Given the description of an element on the screen output the (x, y) to click on. 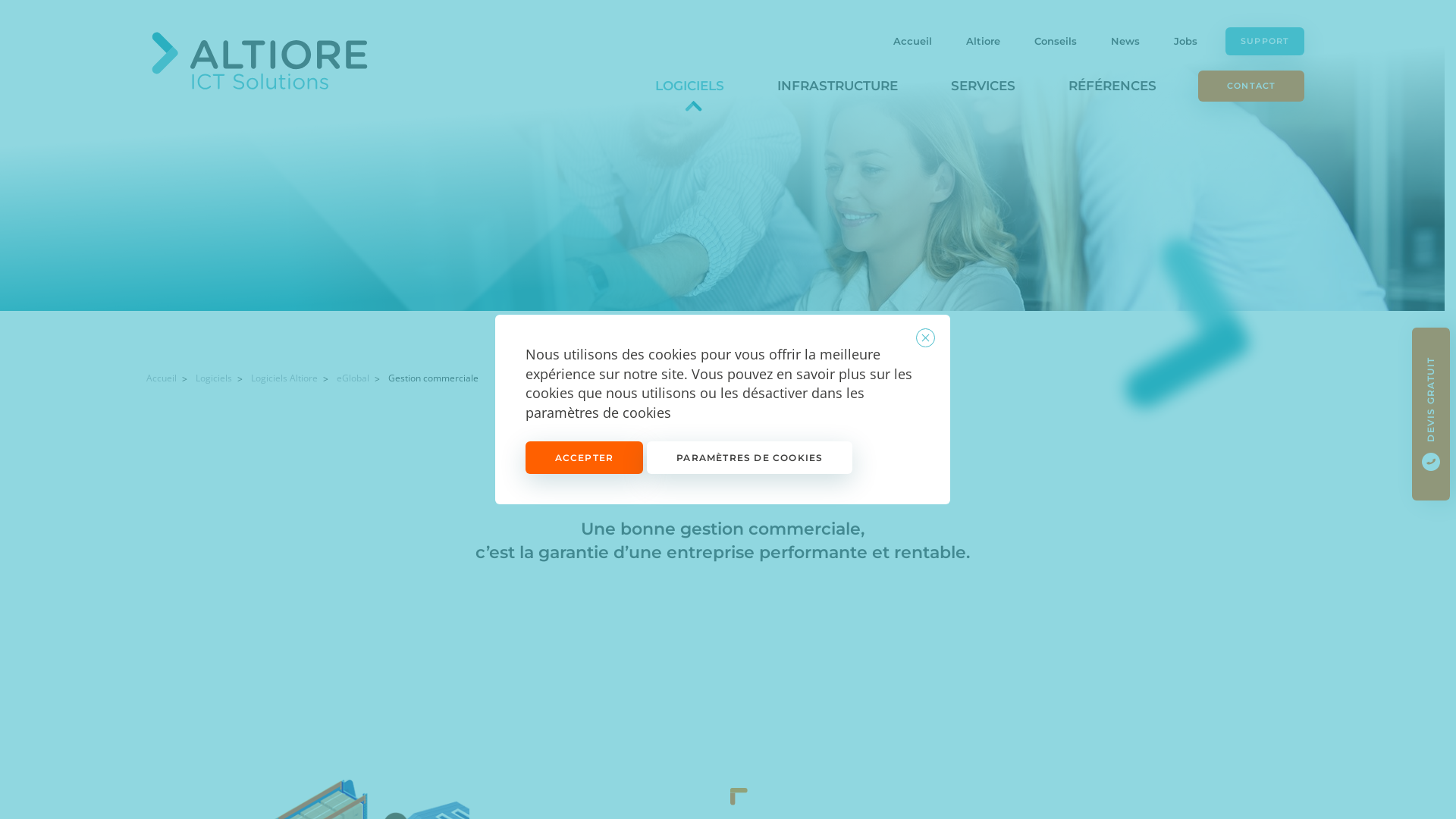
SERVICES Element type: text (982, 85)
SUPPORT Element type: text (1264, 41)
Logiciels Altiore Element type: text (283, 377)
Accueil Element type: text (160, 377)
Conseils Element type: text (1055, 41)
CONTACT Element type: text (1251, 85)
Gestion commerciale Element type: text (433, 377)
Accueil Element type: text (912, 41)
Logiciels Element type: text (213, 377)
ACCEPTER Element type: text (583, 457)
INFRASTRUCTURE Element type: text (837, 85)
eGlobal Element type: text (352, 377)
News Element type: text (1124, 41)
Altiore Element type: text (983, 41)
Jobs Element type: text (1185, 41)
LOGICIELS Element type: text (689, 85)
